Given the description of an element on the screen output the (x, y) to click on. 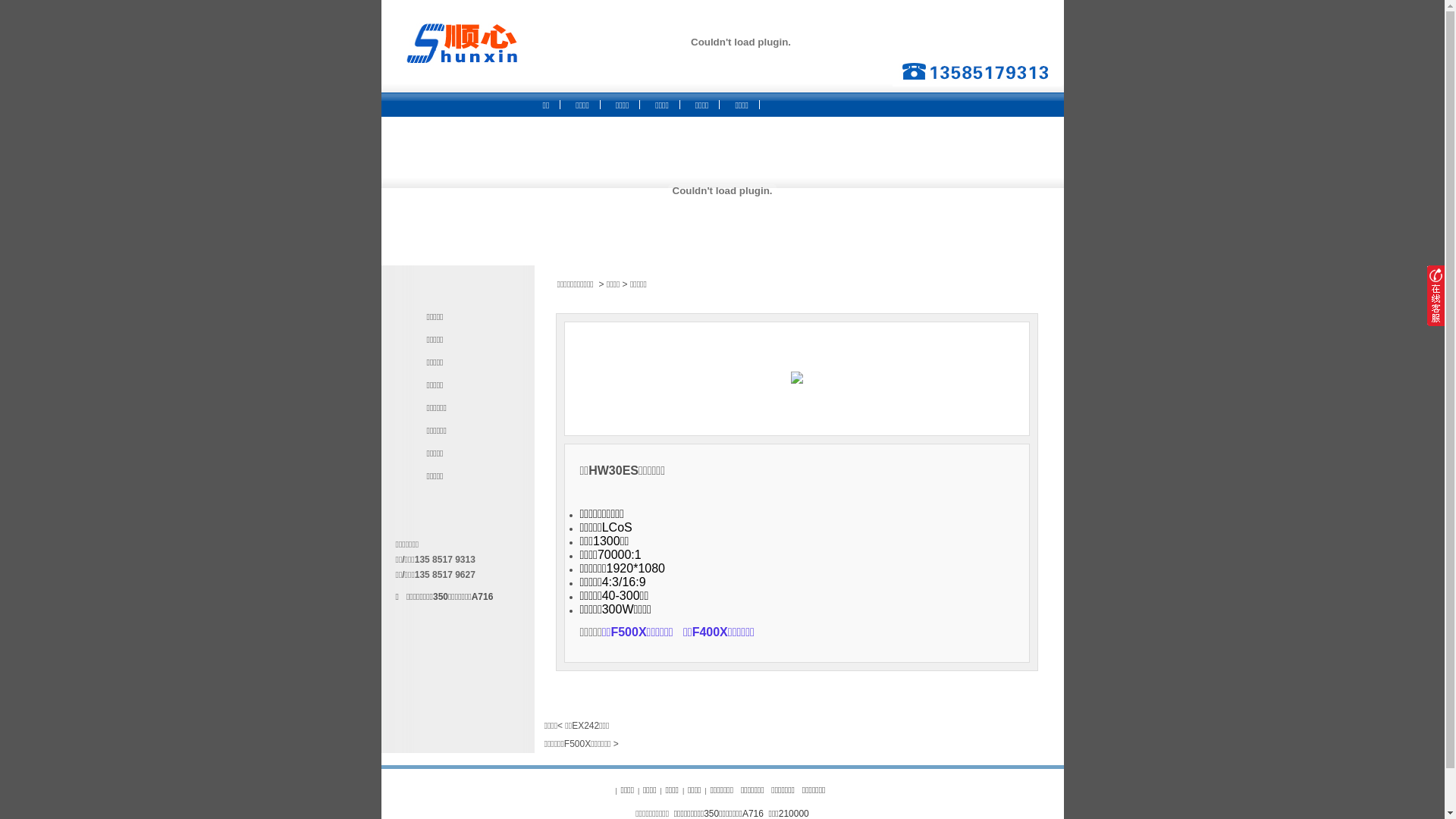
 >  Element type: text (601, 284)
